Given the description of an element on the screen output the (x, y) to click on. 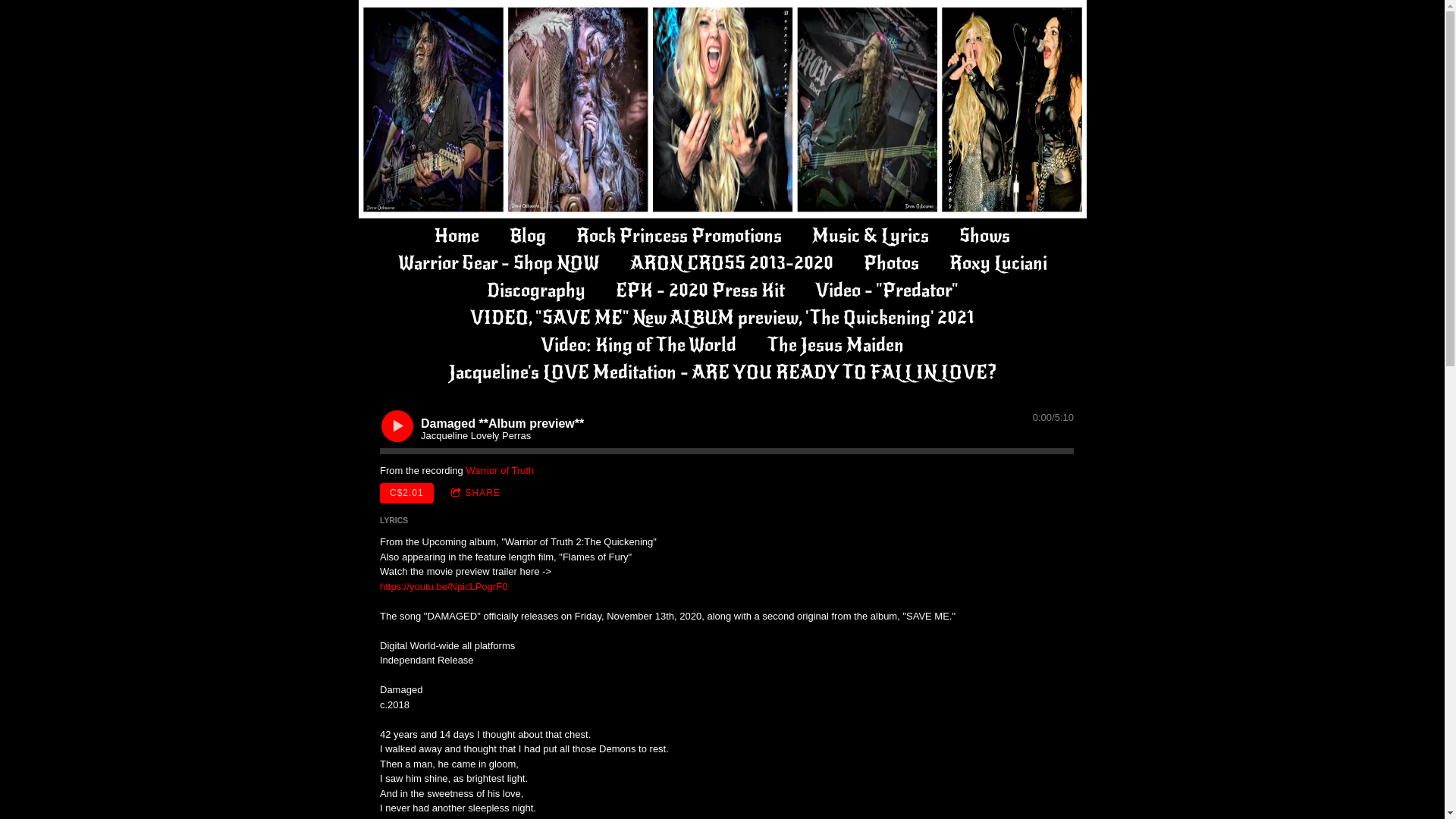
ARON CROSS 2013-2020 Element type: text (730, 262)
Discography Element type: text (535, 290)
Play Element type: hover (397, 425)
The Jesus Maiden Element type: text (834, 344)
Rock Princess Promotions Element type: text (678, 235)
SHARE Element type: text (475, 492)
Video - "Predator" Element type: text (885, 290)
Blog Element type: text (527, 235)
Music & Lyrics Element type: text (870, 235)
Warrior of Truth Element type: text (499, 469)
C$2.01 Element type: text (406, 493)
Video: King of The World Element type: text (638, 344)
Warrior Gear - Shop NOW Element type: text (498, 262)
Shows Element type: text (984, 235)
Photos Element type: text (890, 262)
Home Element type: text (456, 235)
VIDEO, "SAVE ME" New ALBUM preview, 'The Quickening' 2021 Element type: text (722, 317)
https://youtu.be/NpicLPogrF0 Element type: text (443, 586)
Roxy Luciani Element type: text (998, 262)
EPK - 2020 Press Kit Element type: text (699, 290)
